Given the description of an element on the screen output the (x, y) to click on. 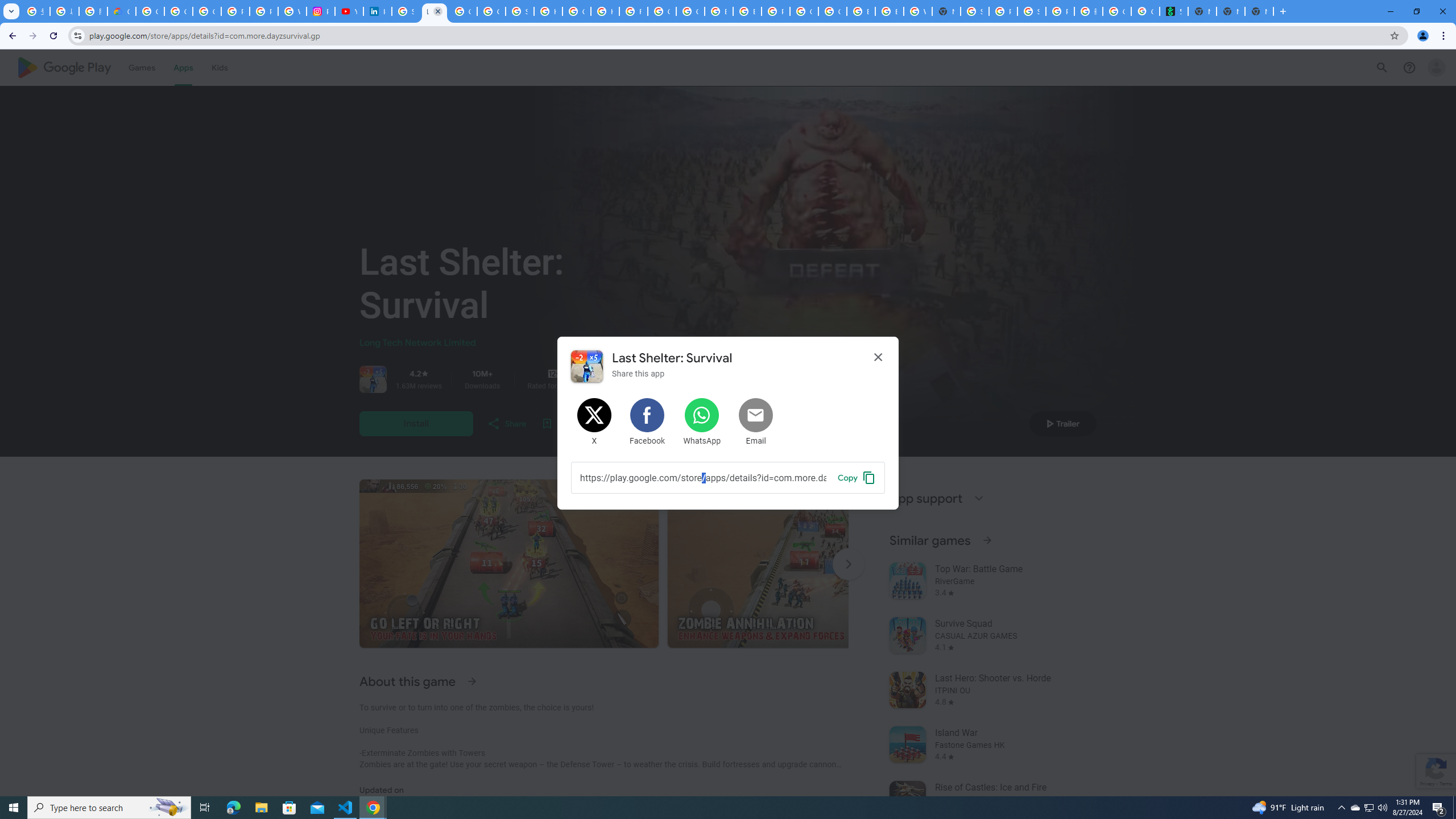
YouTube Culture & Trends - On The Rise: Handcam Videos (349, 11)
New Tab (1230, 11)
